Given the description of an element on the screen output the (x, y) to click on. 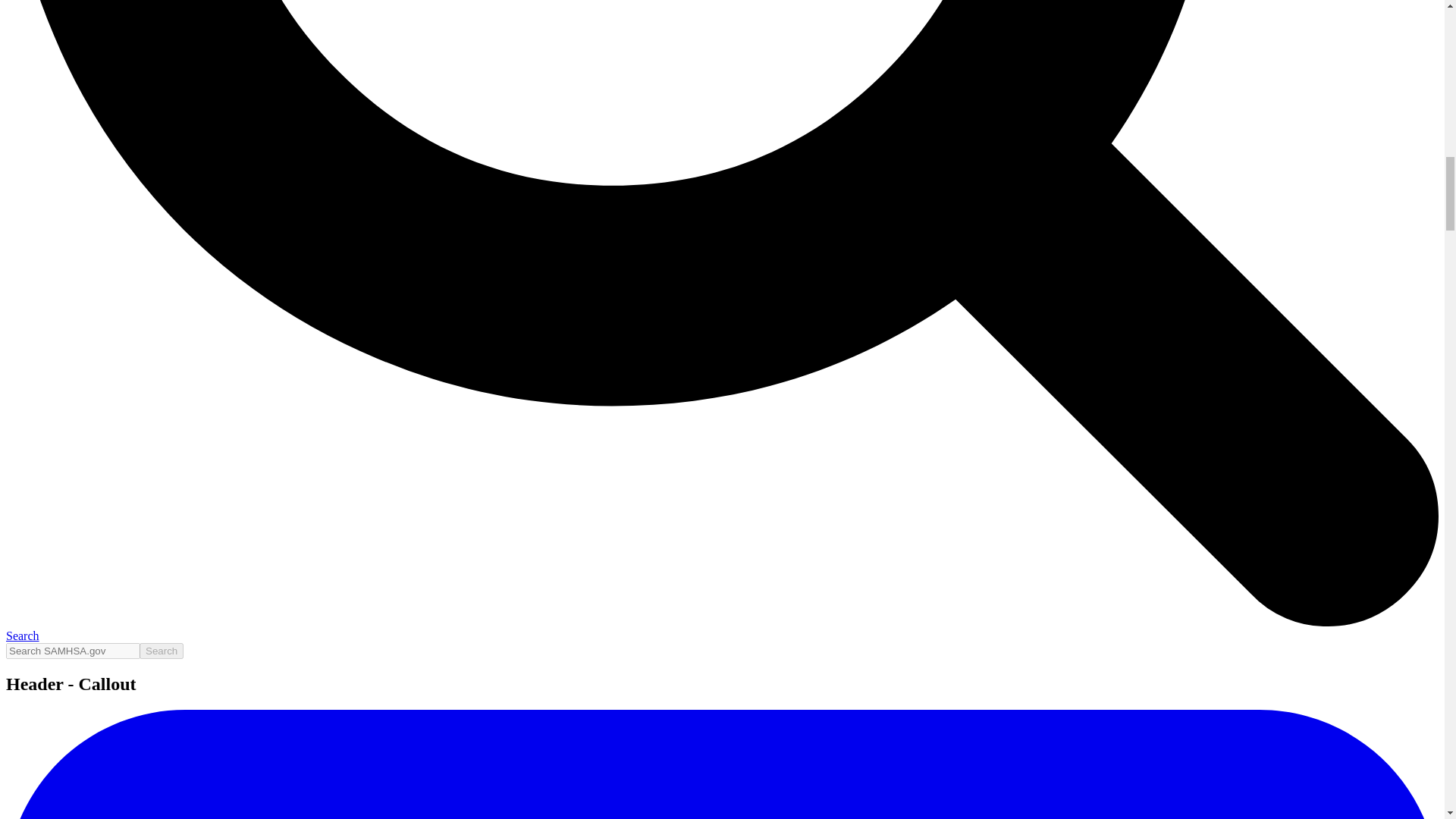
Search (161, 650)
Search (161, 650)
Search (161, 650)
